Given the description of an element on the screen output the (x, y) to click on. 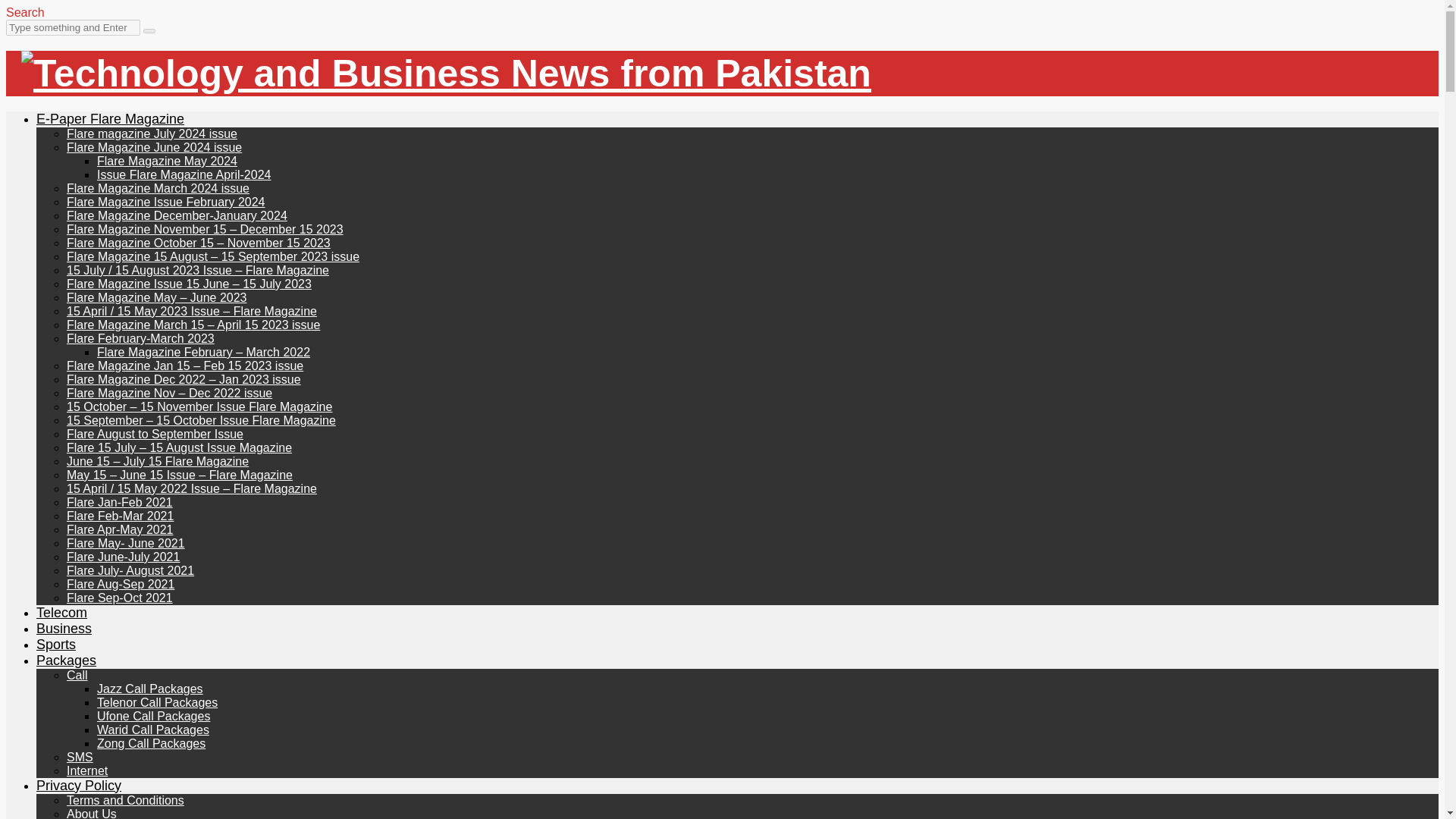
Flare Magazine December-January 2024 (176, 215)
Flare Jan-Feb 2021 (119, 502)
Flare Magazine May 2024 (167, 160)
Flare Feb-Mar 2021 (119, 515)
Issue Flare Magazine April-2024 (183, 174)
Flare magazine July 2024 issue (151, 133)
Flare Magazine March 2024 issue (157, 187)
Technology and Business News from Pakistan (445, 73)
Flare May- June 2021 (125, 543)
Flare Magazine June 2024 issue (153, 146)
